Given the description of an element on the screen output the (x, y) to click on. 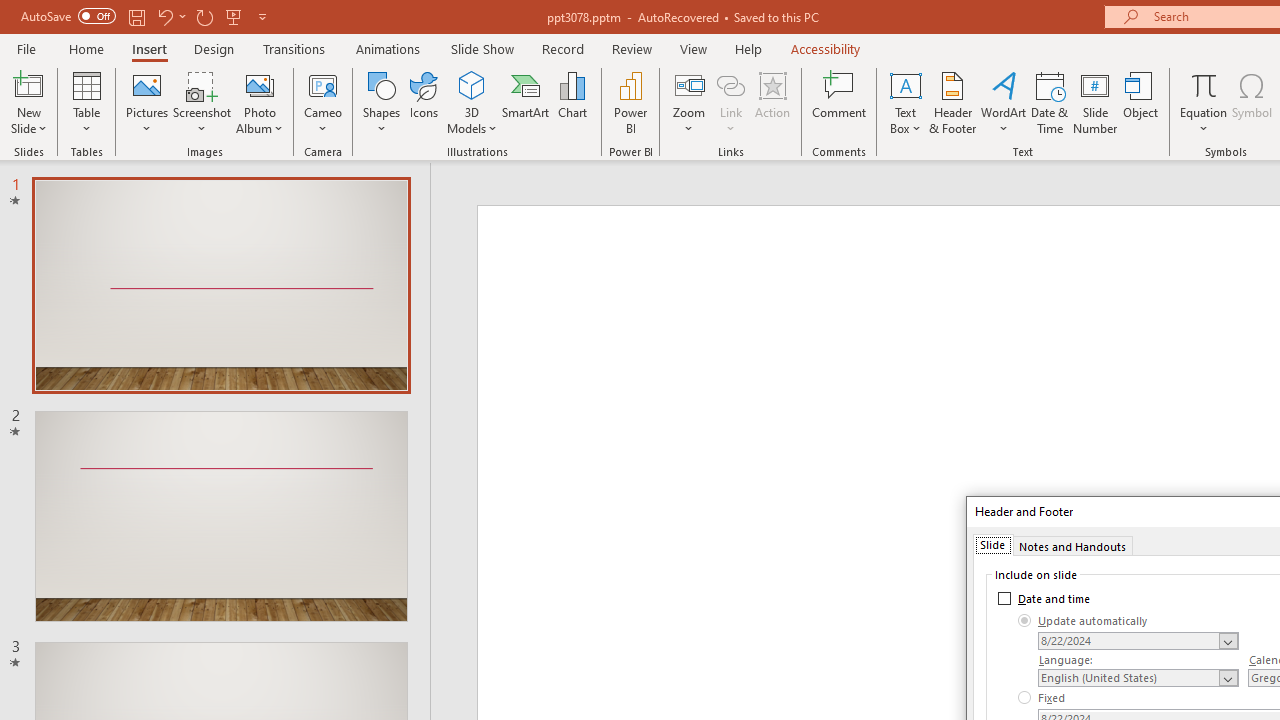
Format Date and Time (1138, 641)
Action (772, 102)
Date and time (1044, 598)
3D Models (472, 84)
WordArt (1004, 102)
Screenshot (202, 102)
